Given the description of an element on the screen output the (x, y) to click on. 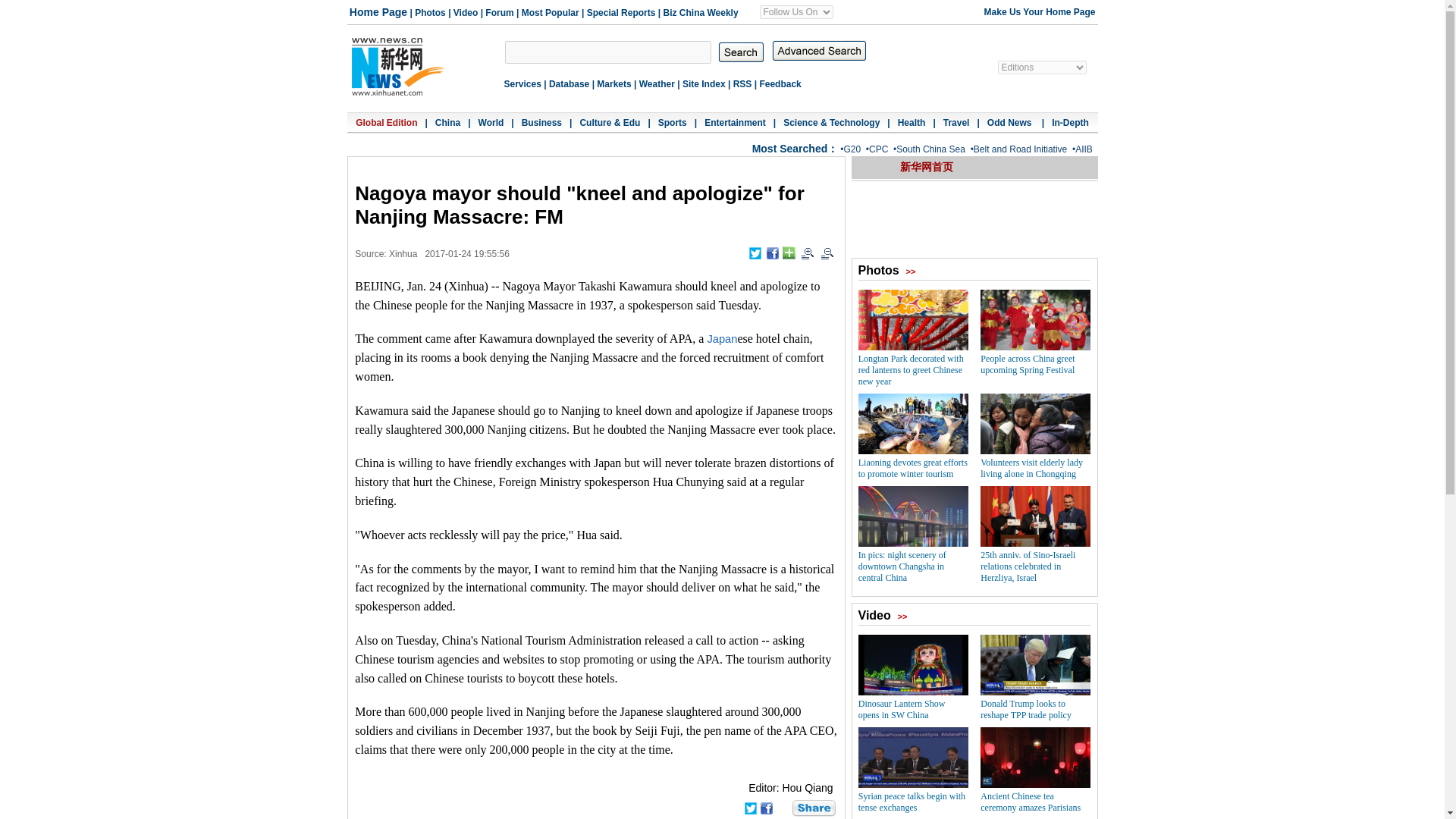
Belt and Road Initiative (1020, 149)
Health (912, 122)
Travel (956, 122)
Markets (613, 83)
Database (568, 83)
Weather (657, 83)
Special Reports (621, 12)
Biz China Weekly (700, 12)
More (788, 252)
Video (464, 12)
